Given the description of an element on the screen output the (x, y) to click on. 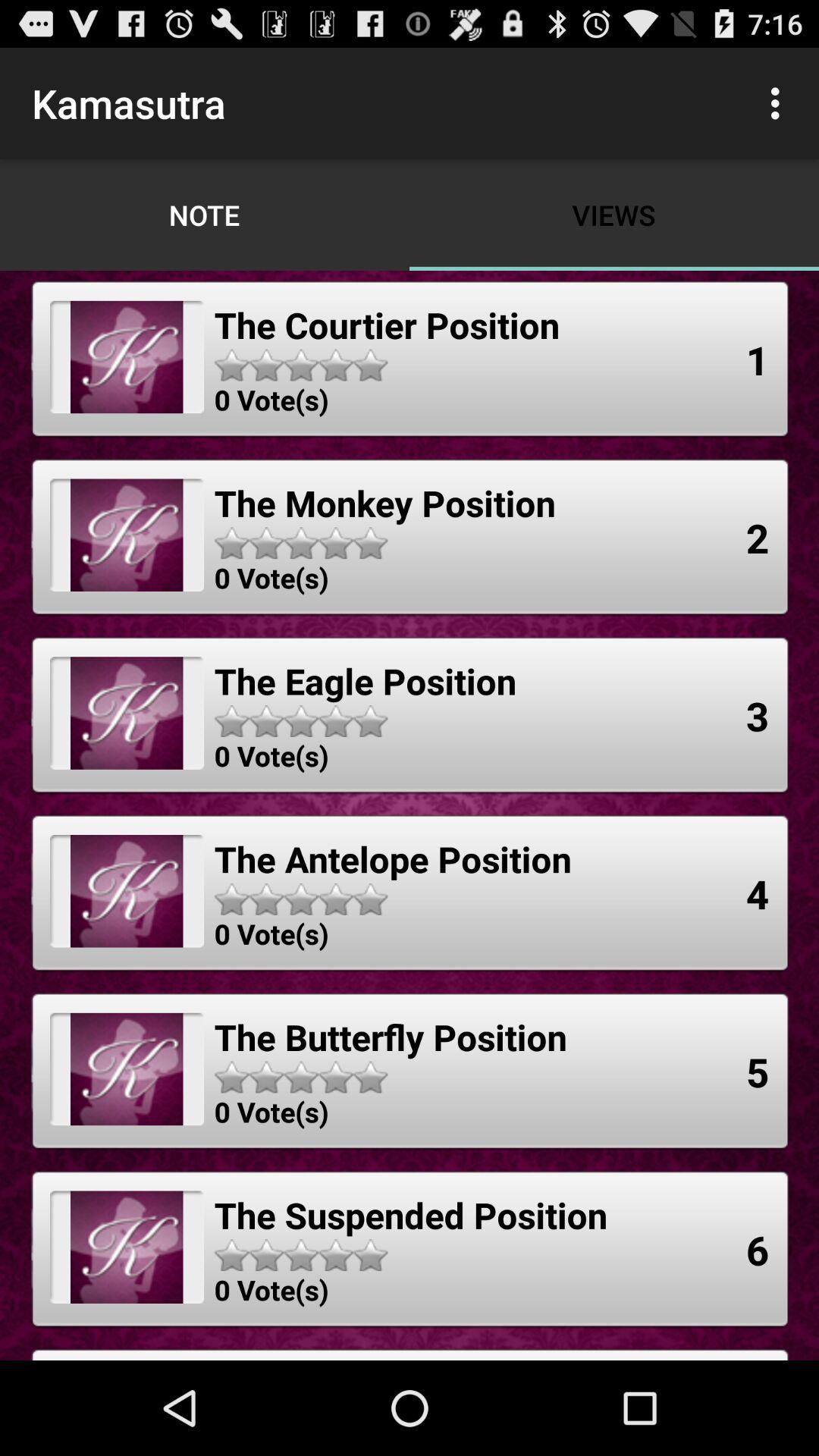
turn off the app next to the monkey position icon (757, 537)
